Given the description of an element on the screen output the (x, y) to click on. 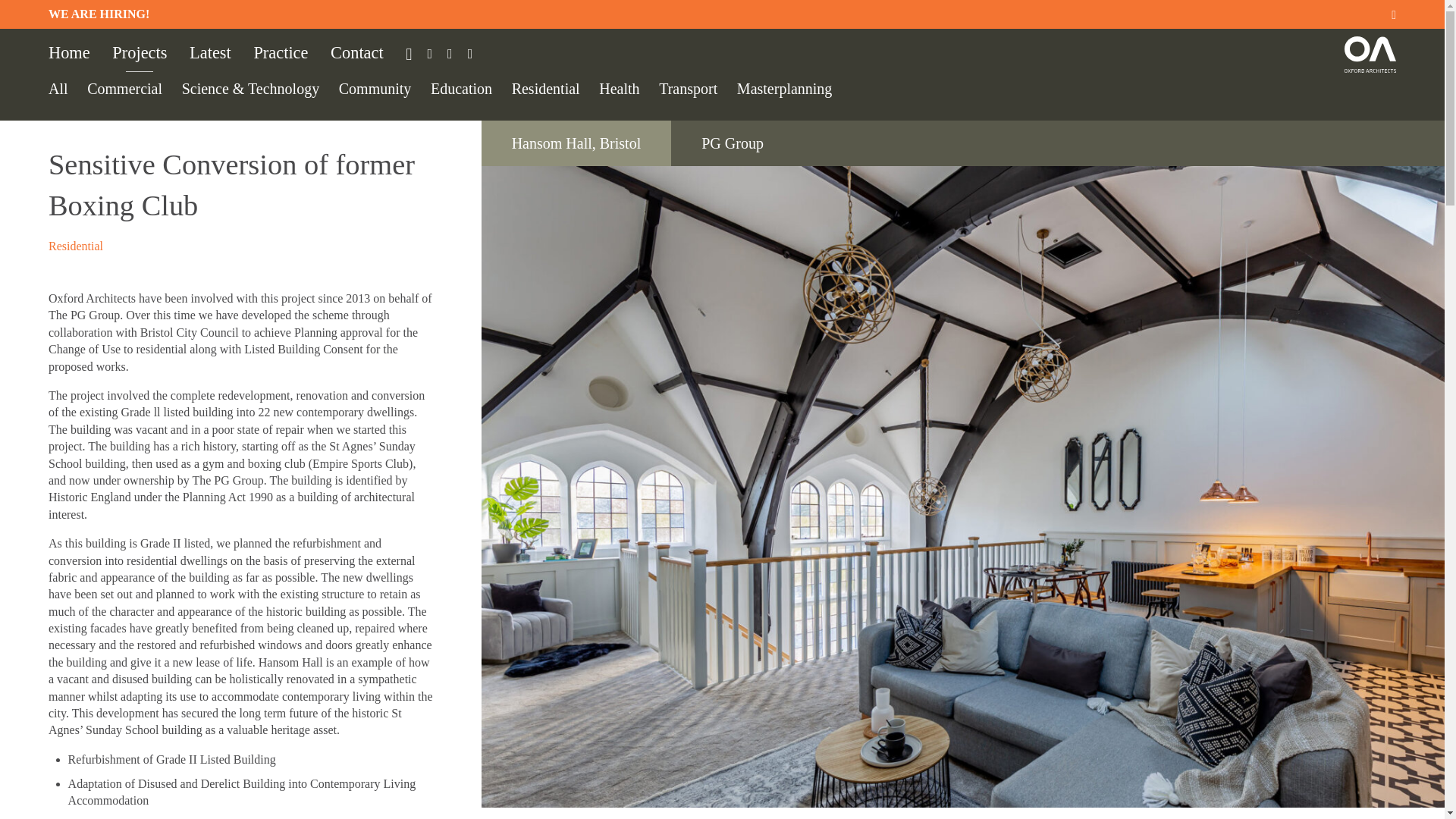
All (58, 88)
Commercial (124, 88)
Community (375, 88)
Residential (545, 88)
Practice (280, 52)
Projects (139, 52)
Health (618, 88)
Latest (210, 52)
Home (69, 52)
Masterplanning (784, 88)
Residential (75, 245)
Education (461, 88)
Transport (688, 88)
Contact (357, 52)
